Given the description of an element on the screen output the (x, y) to click on. 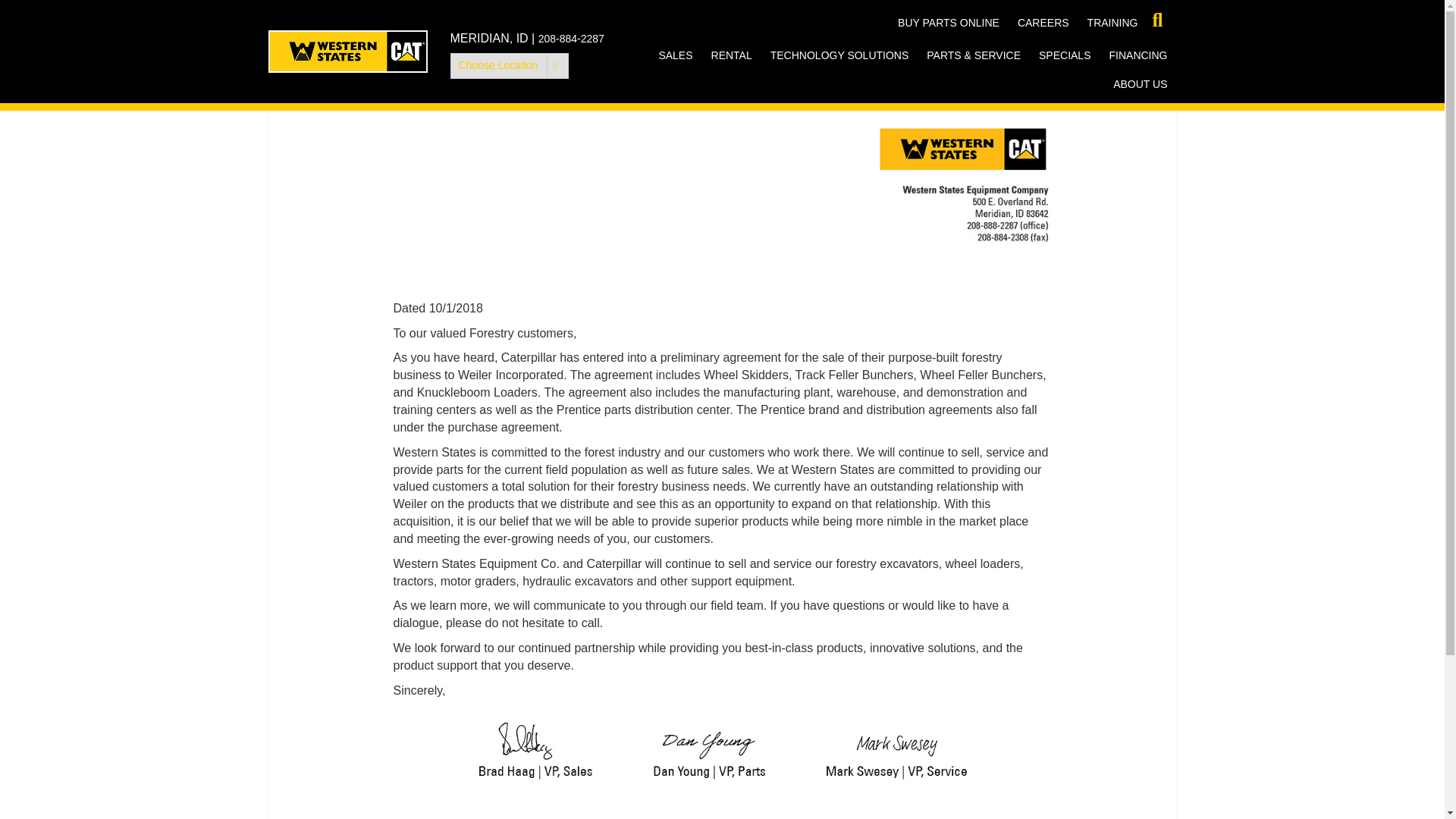
Choose Location (509, 65)
NEW EQUIPMENT (724, 83)
BUY PARTS ONLINE (948, 22)
Western States Cat (347, 51)
SALES (675, 54)
Search (18, 18)
208-884-2287 (571, 38)
TRAINING (1112, 22)
CAREERS (1043, 22)
